Given the description of an element on the screen output the (x, y) to click on. 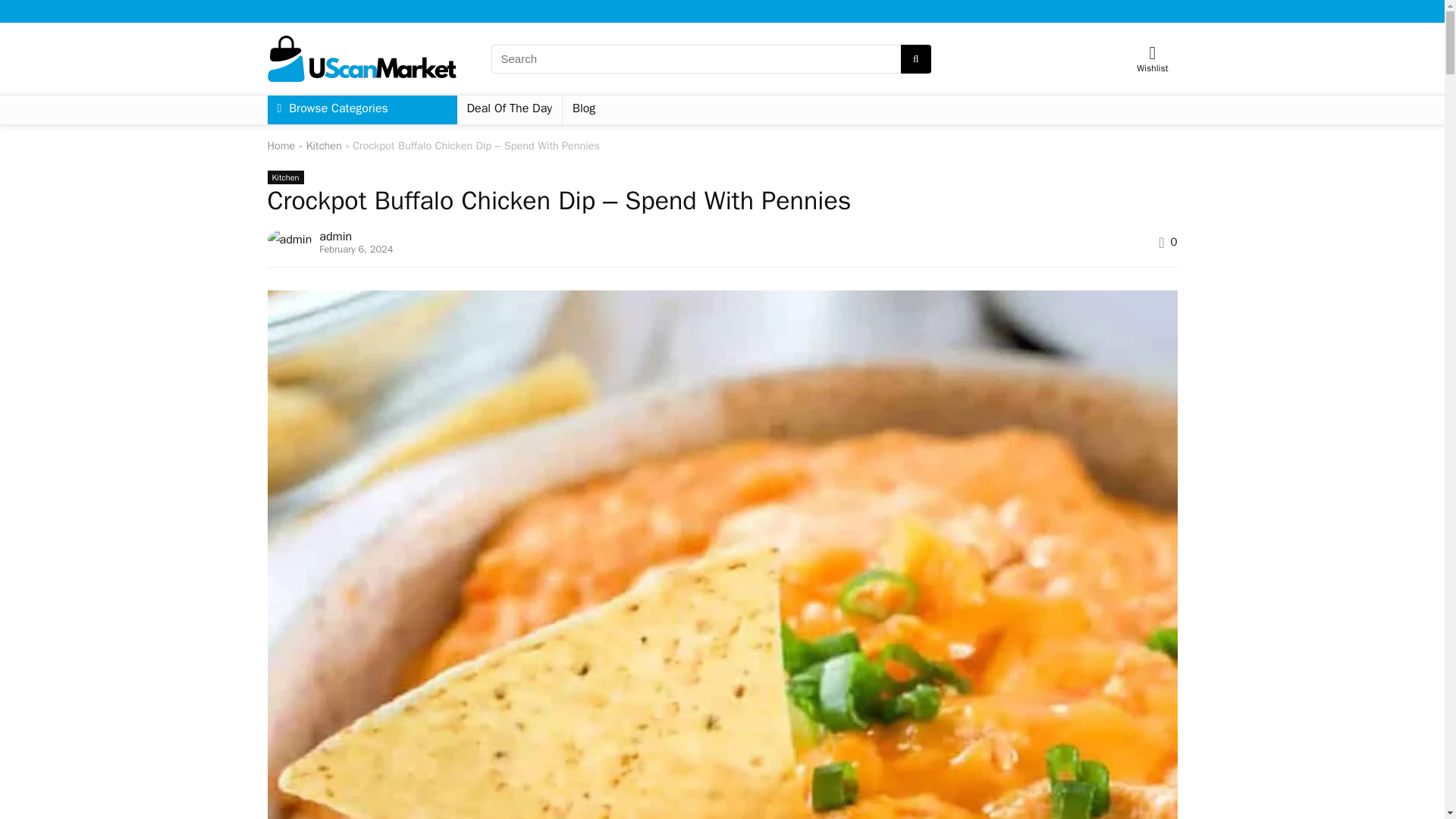
Blog (583, 109)
View all posts in Kitchen (284, 177)
Kitchen (284, 177)
Browse Categories (360, 109)
Deal Of The Day (509, 109)
Home (280, 145)
Kitchen (323, 145)
admin (335, 236)
